Given the description of an element on the screen output the (x, y) to click on. 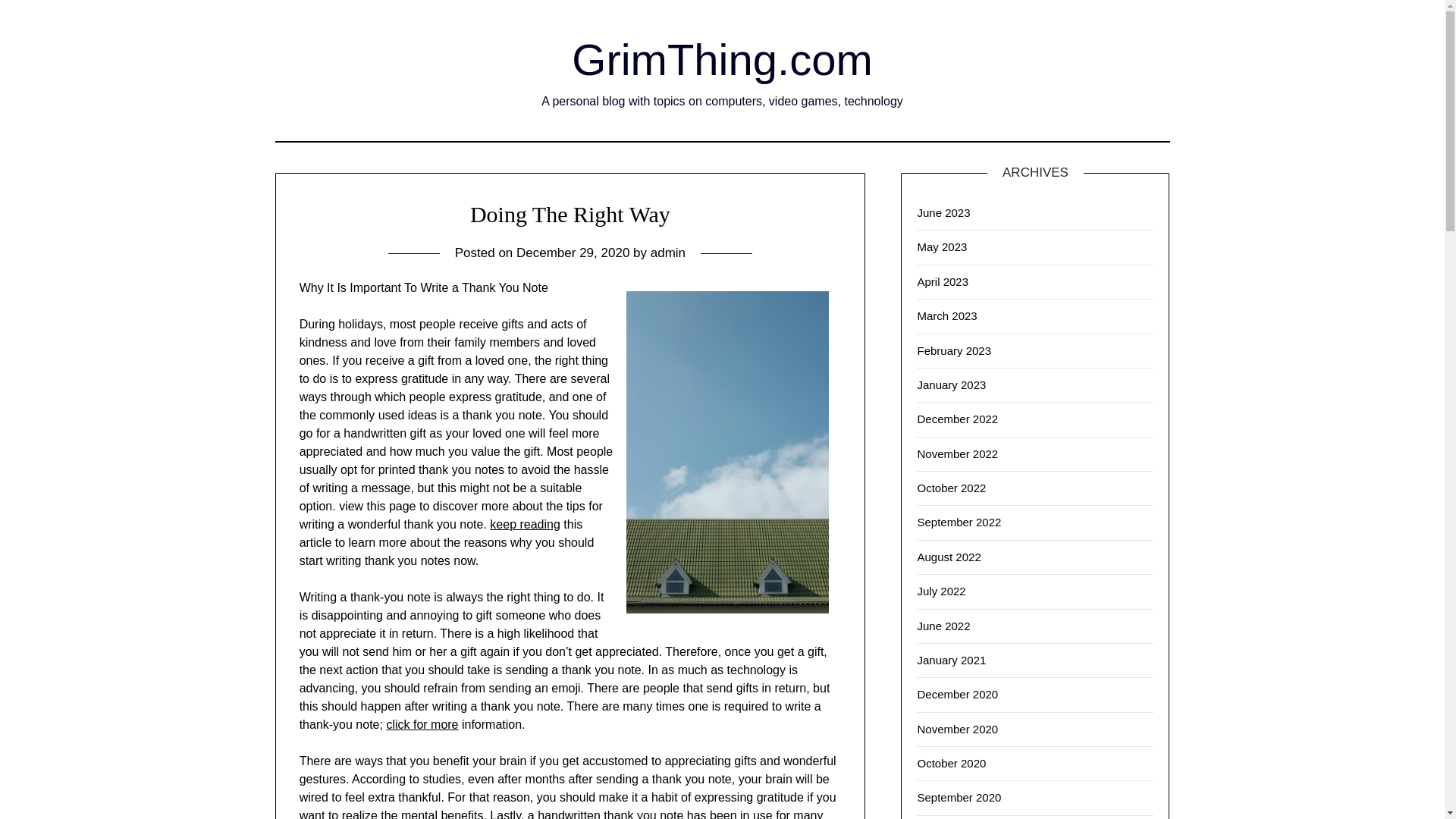
June 2022 (943, 625)
August 2022 (948, 556)
December 2020 (957, 694)
October 2022 (951, 487)
click for more (421, 724)
keep reading (524, 523)
March 2023 (946, 315)
July 2022 (941, 590)
November 2020 (957, 728)
November 2022 (957, 453)
February 2023 (954, 350)
December 2022 (957, 418)
September 2020 (959, 797)
May 2023 (941, 246)
June 2023 (943, 212)
